Given the description of an element on the screen output the (x, y) to click on. 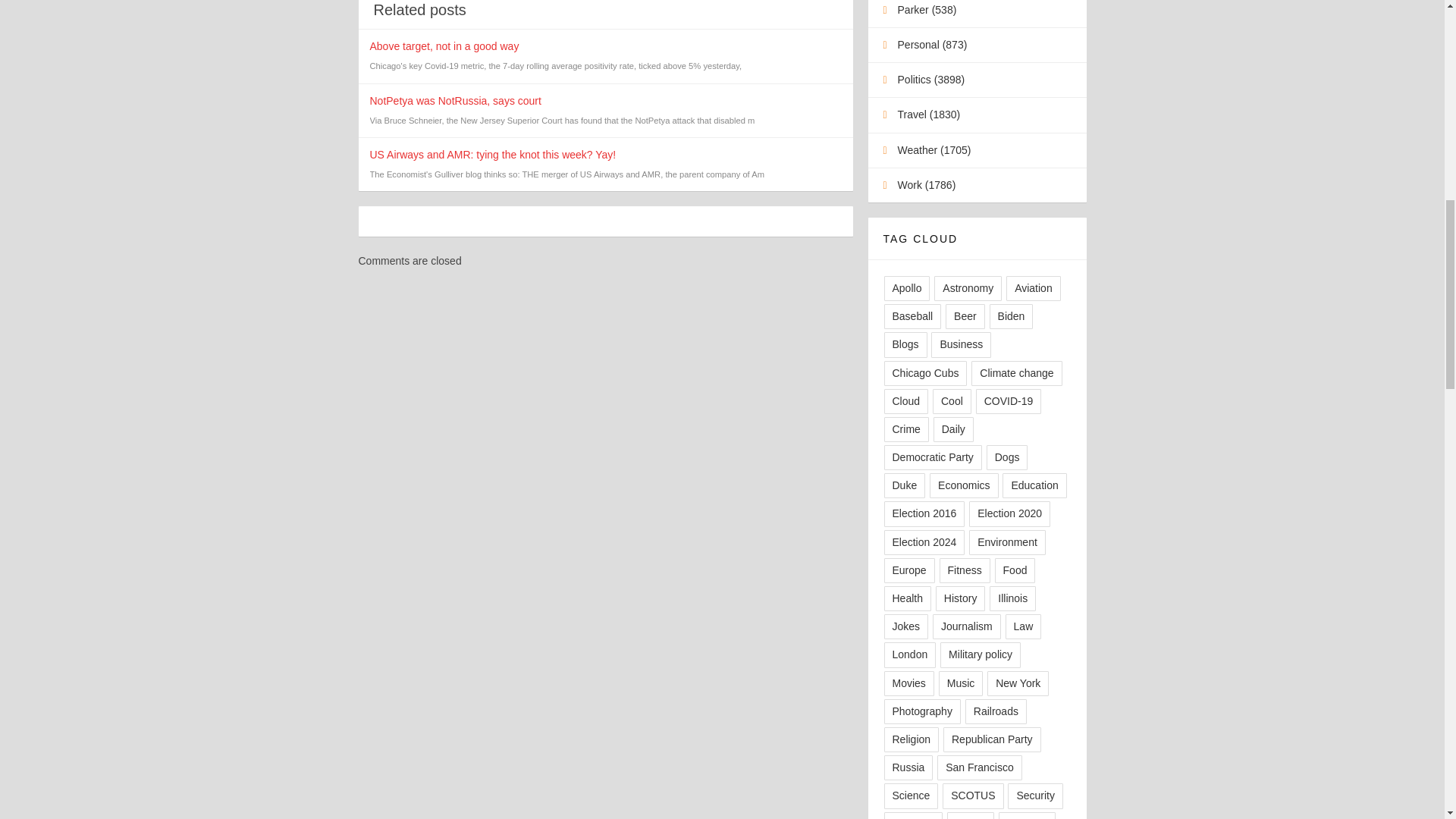
US Airways and AMR: tying the knot this week? Yay! (492, 154)
NotPetya was NotRussia, says court (455, 101)
Above target, not in a good way (444, 46)
